Given the description of an element on the screen output the (x, y) to click on. 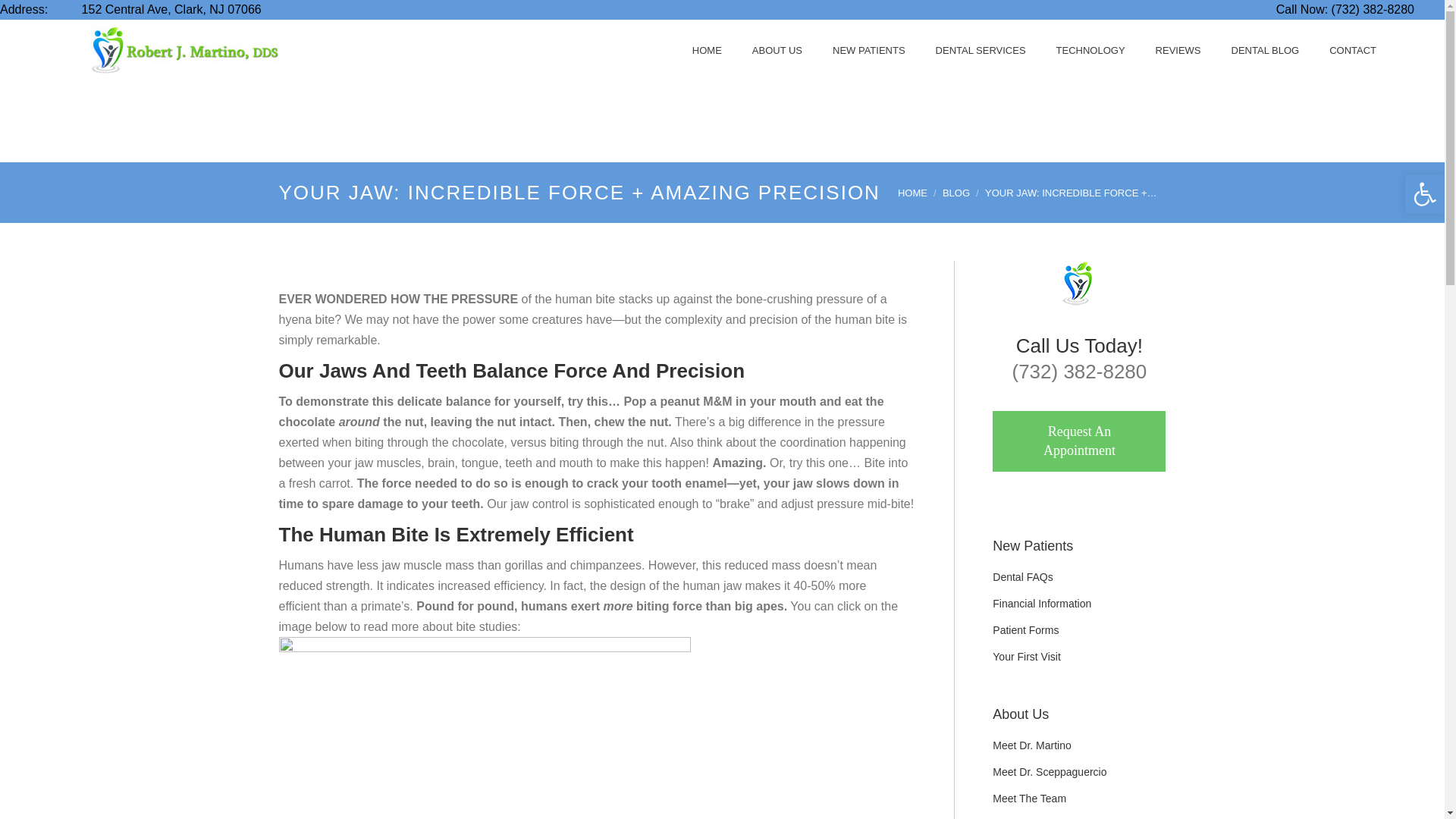
Accessibility Tools (1424, 193)
NEW PATIENTS (868, 49)
Blog (955, 193)
Home (912, 193)
ABOUT US (776, 49)
HOME (706, 49)
152 Central Ave, Clark, NJ 07066 (156, 9)
DENTAL SERVICES (980, 49)
